Given the description of an element on the screen output the (x, y) to click on. 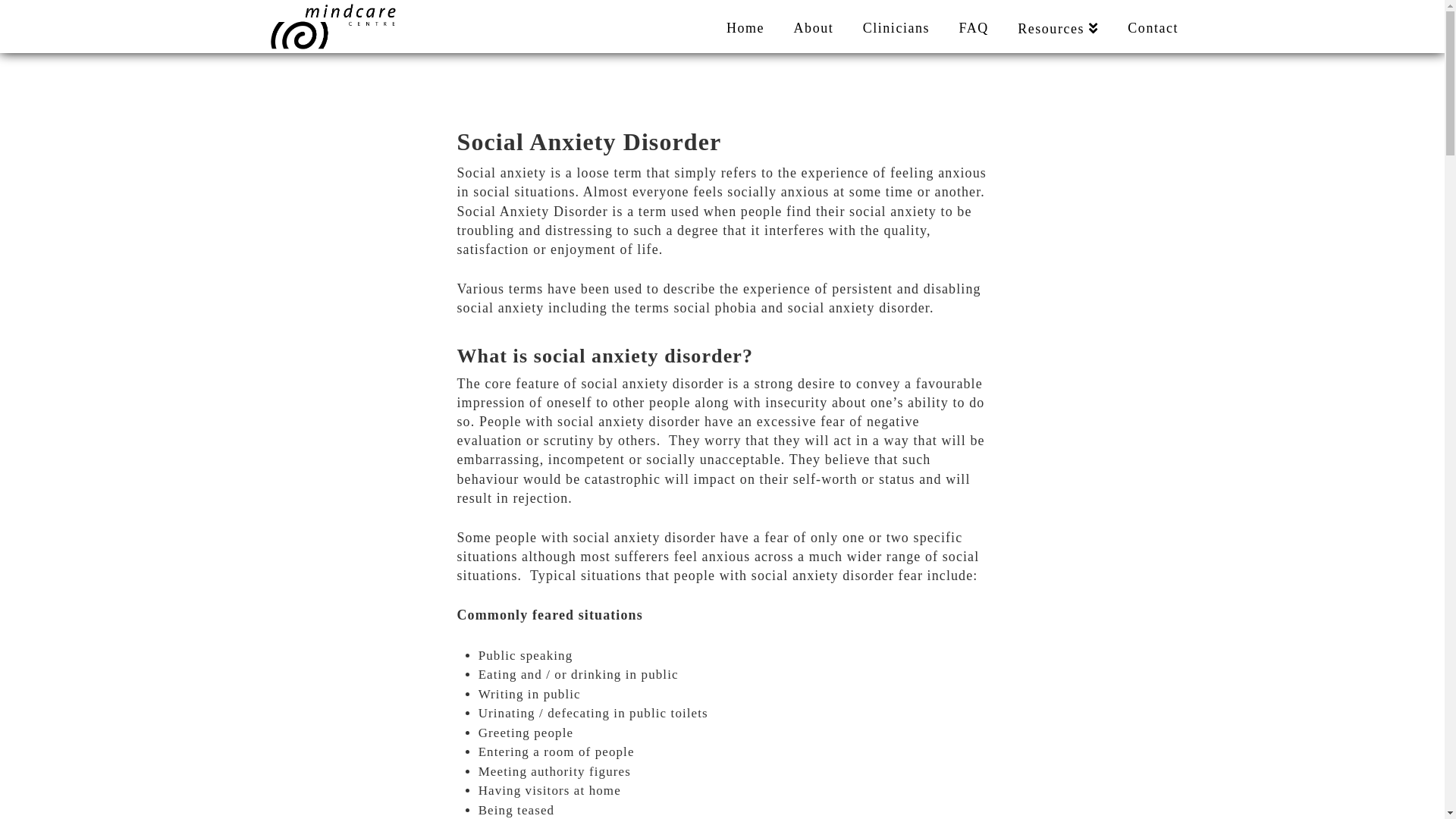
Home Element type: text (744, 22)
About Element type: text (812, 22)
Resources Element type: text (1057, 22)
FAQ Element type: text (972, 22)
Contact Element type: text (1144, 22)
Clinicians Element type: text (895, 22)
